Given the description of an element on the screen output the (x, y) to click on. 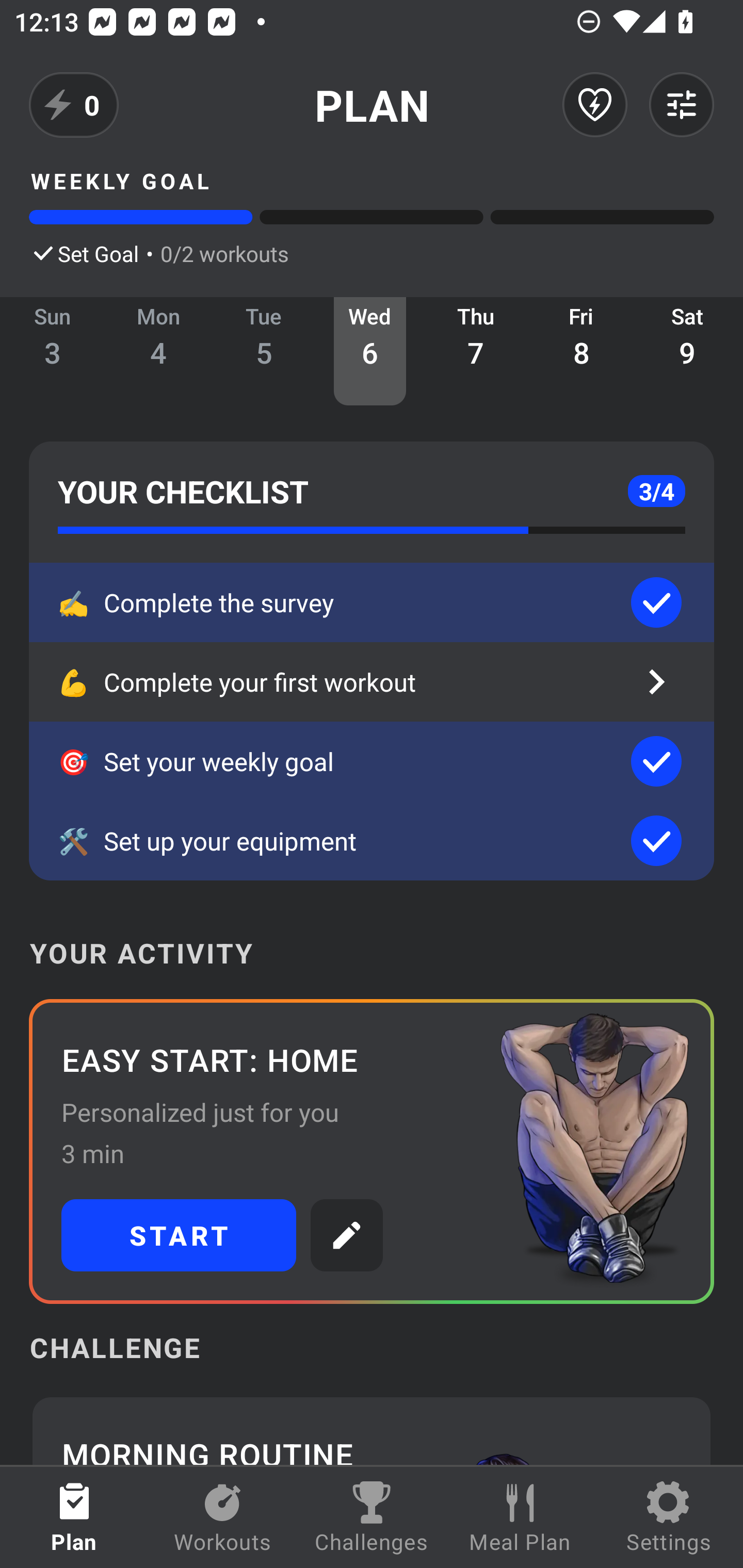
0 (73, 104)
Sun 3 (52, 351)
Mon 4 (158, 351)
Tue 5 (264, 351)
Wed 6 (369, 351)
Thu 7 (475, 351)
Fri 8 (581, 351)
Sat 9 (687, 351)
💪 Complete your first workout (371, 681)
START (178, 1235)
 Workouts  (222, 1517)
 Challenges  (371, 1517)
 Meal Plan  (519, 1517)
 Settings  (668, 1517)
